Given the description of an element on the screen output the (x, y) to click on. 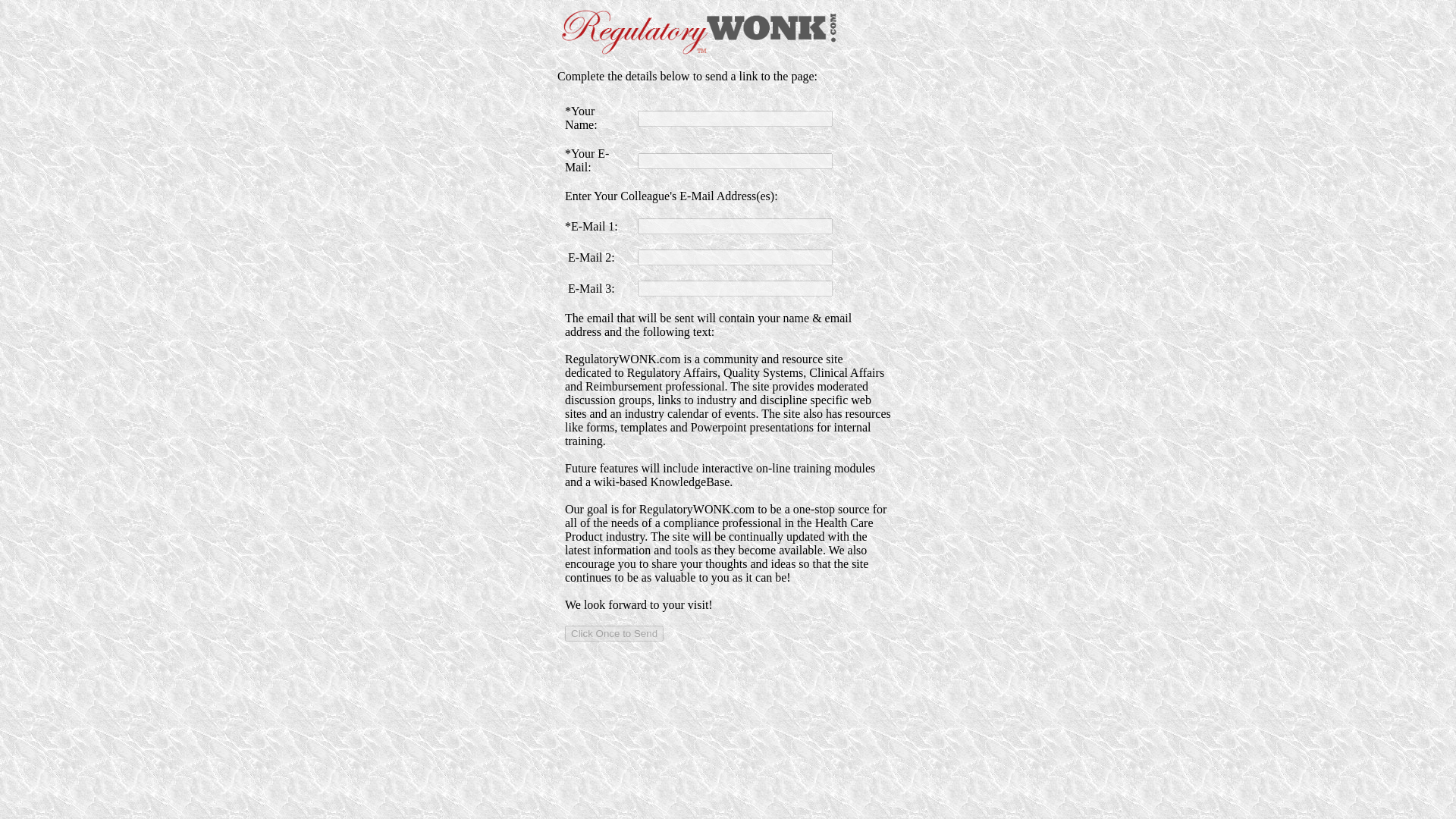
Click Once to Send (613, 633)
